Given the description of an element on the screen output the (x, y) to click on. 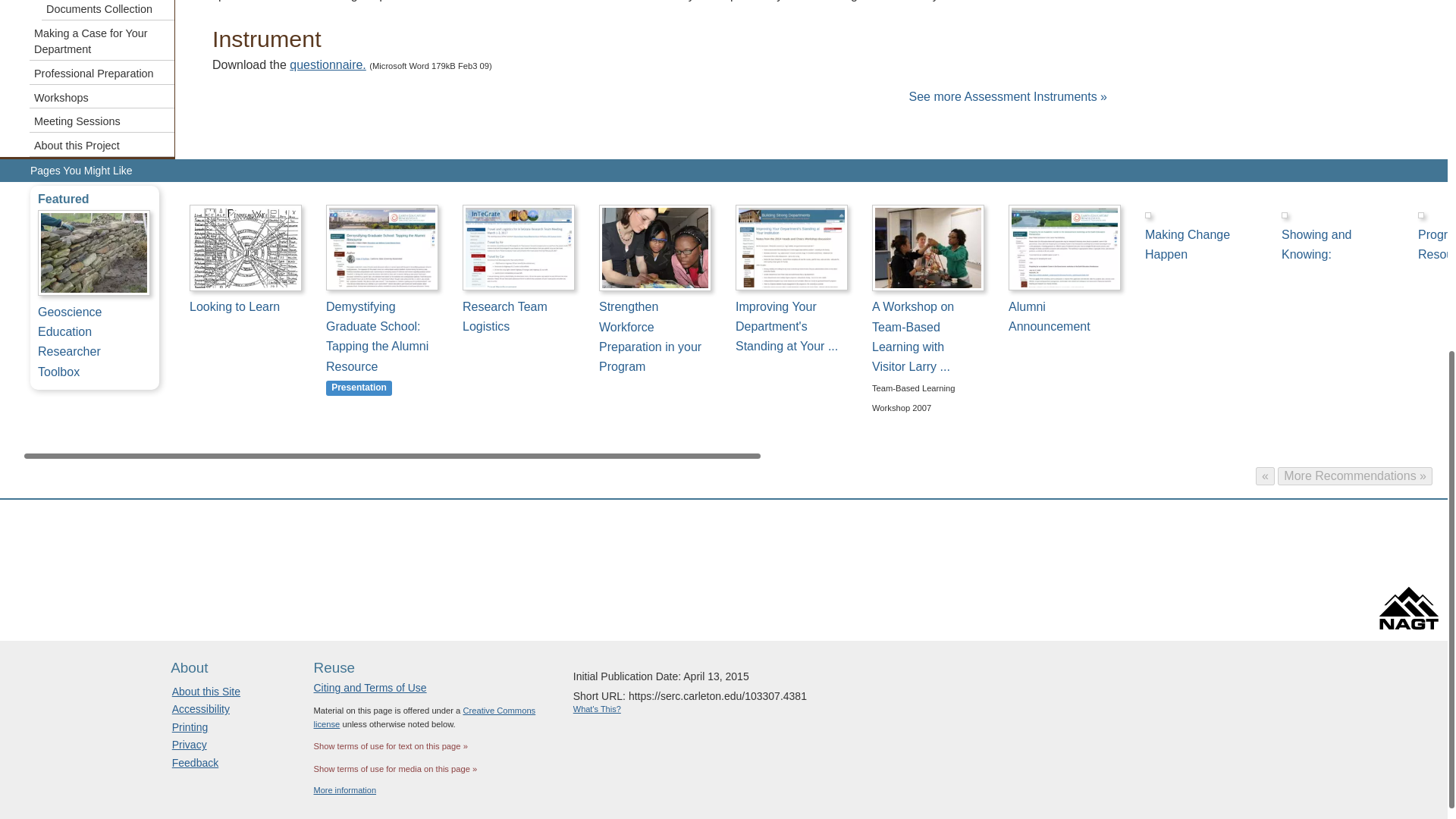
questionnaire. (327, 64)
Workshops (101, 96)
Professional Preparation (101, 72)
Profiles and Planning Documents Collection (108, 10)
Making a Case for Your Department (101, 40)
